Given the description of an element on the screen output the (x, y) to click on. 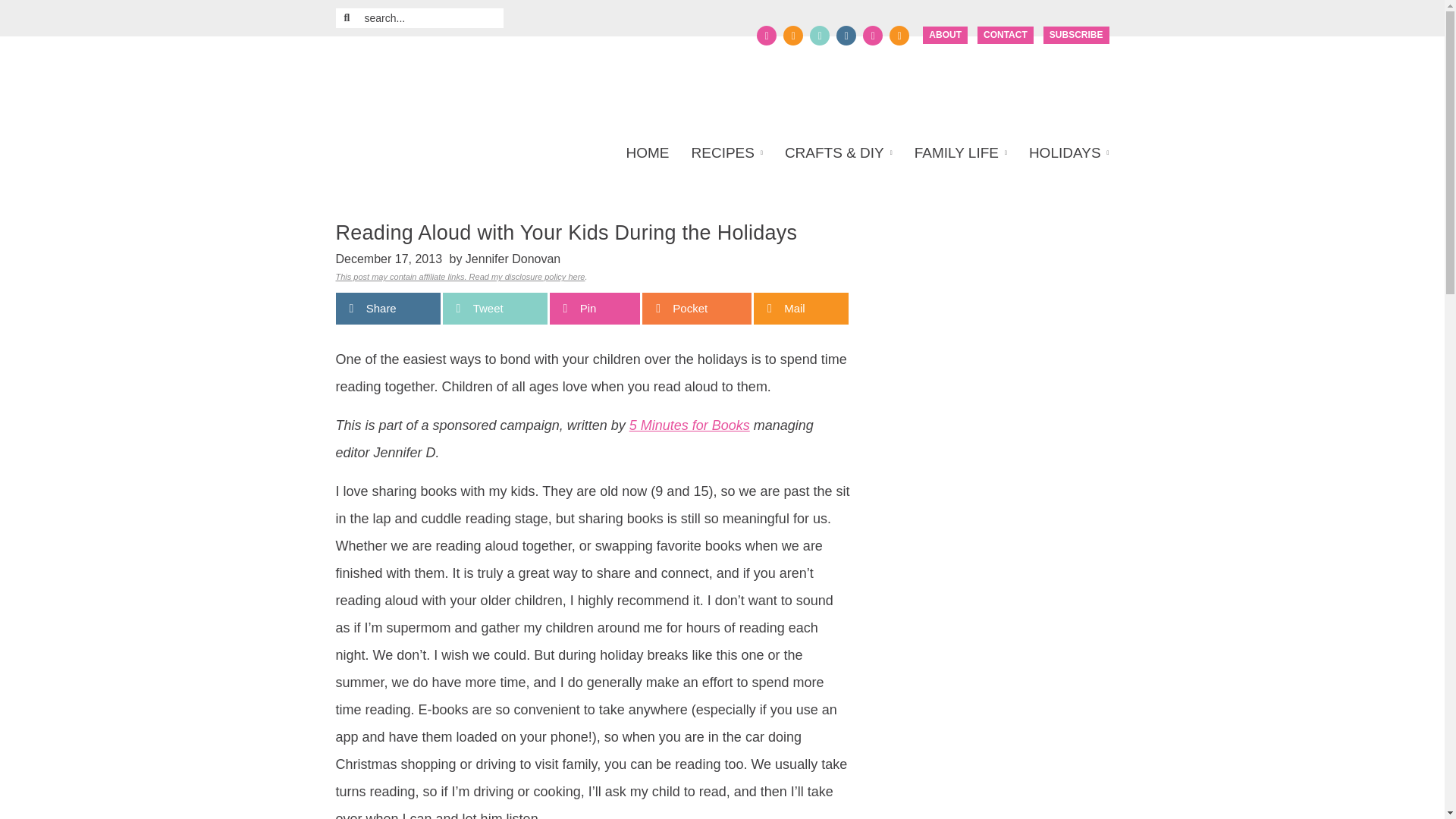
Follow 5 Minutes For Mom on Twitter (793, 35)
HOME (652, 153)
Follow 5 Minutes For Mom on YouTube (872, 35)
SUBSCRIBE (1076, 35)
5 Minutes for Mom (480, 82)
Follow 5 Minutes For Mom on Pinterest (819, 35)
CONTACT (1004, 35)
Follow 5 Minutes For Mom via RSS (898, 35)
RECIPES (726, 153)
